Given the description of an element on the screen output the (x, y) to click on. 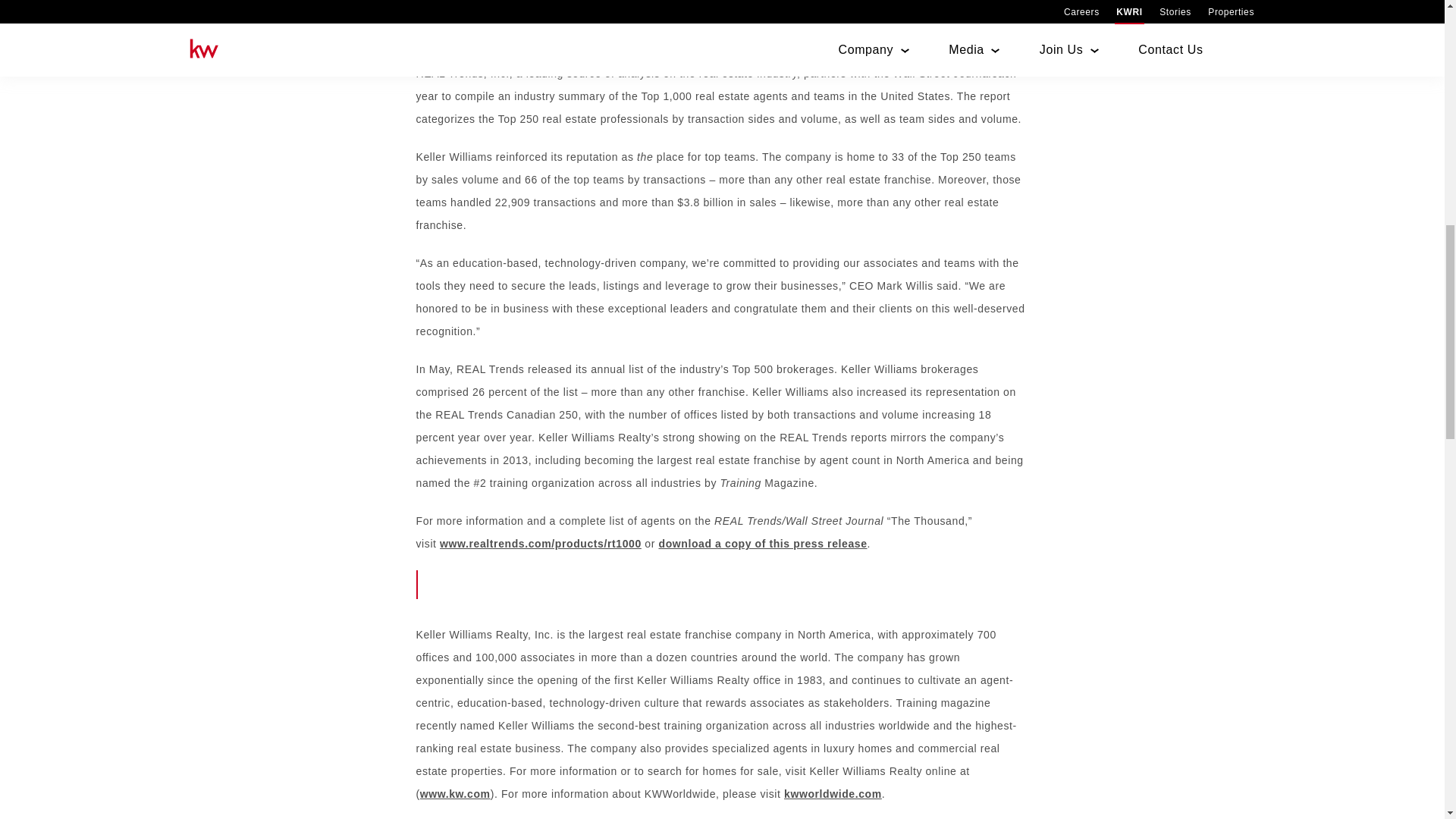
www.kw.com (455, 793)
download a copy of this press release (762, 543)
kwworldwide.com (833, 793)
